Given the description of an element on the screen output the (x, y) to click on. 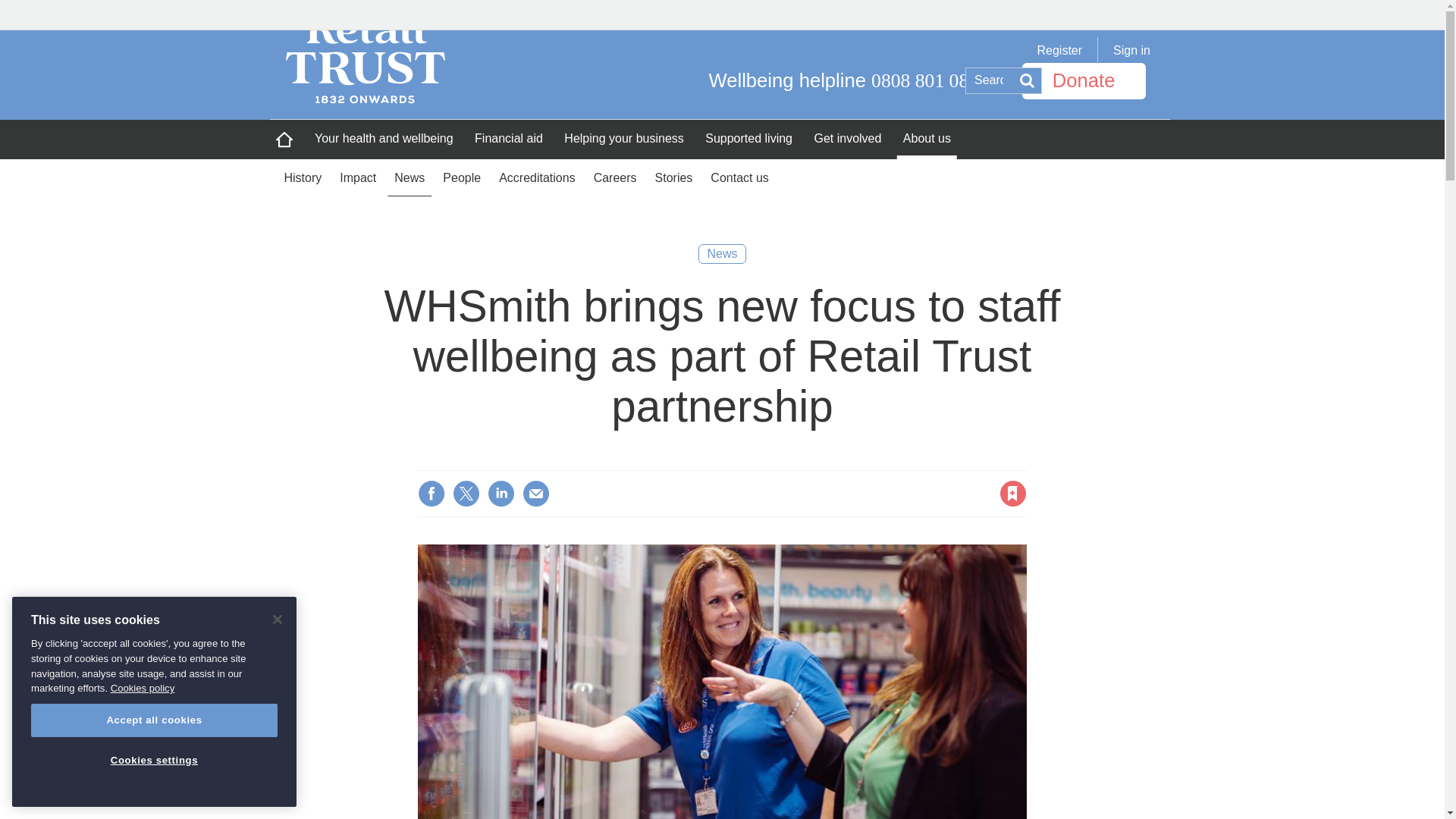
Email this article (536, 492)
Search (1026, 79)
0808 801 0808 (929, 79)
Financial aid (508, 138)
Helping your business (623, 138)
Your health and wellbeing (384, 138)
About us (926, 138)
Donate (1083, 81)
Sign in (1143, 50)
Share this on Twitter (466, 492)
Supported living (748, 138)
Share this on Facebook (431, 492)
Register (1059, 50)
Get involved (847, 138)
Share this on Linked in (501, 492)
